Given the description of an element on the screen output the (x, y) to click on. 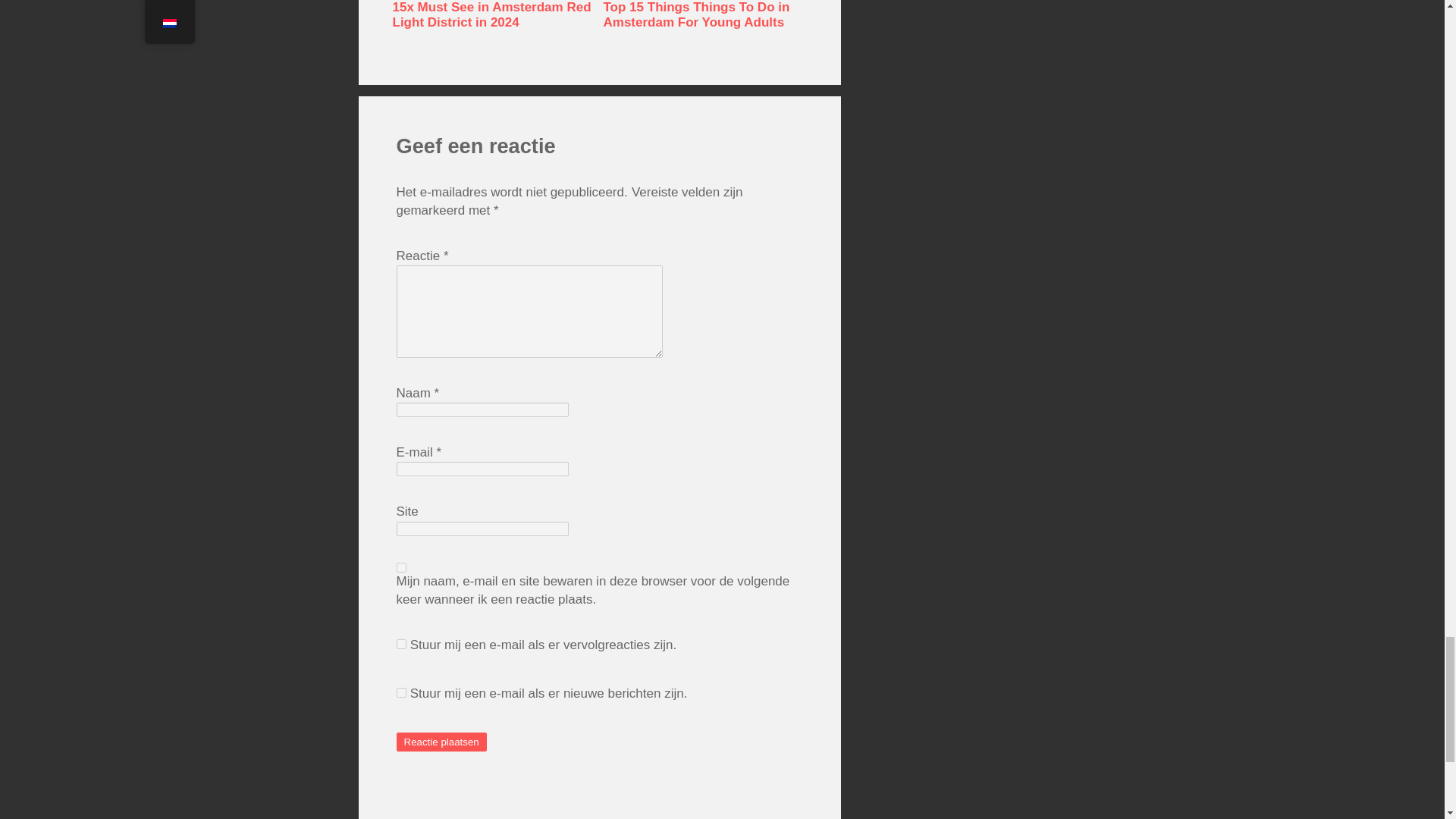
yes (401, 567)
Reactie plaatsen (441, 741)
subscribe (401, 644)
subscribe (401, 692)
